Given the description of an element on the screen output the (x, y) to click on. 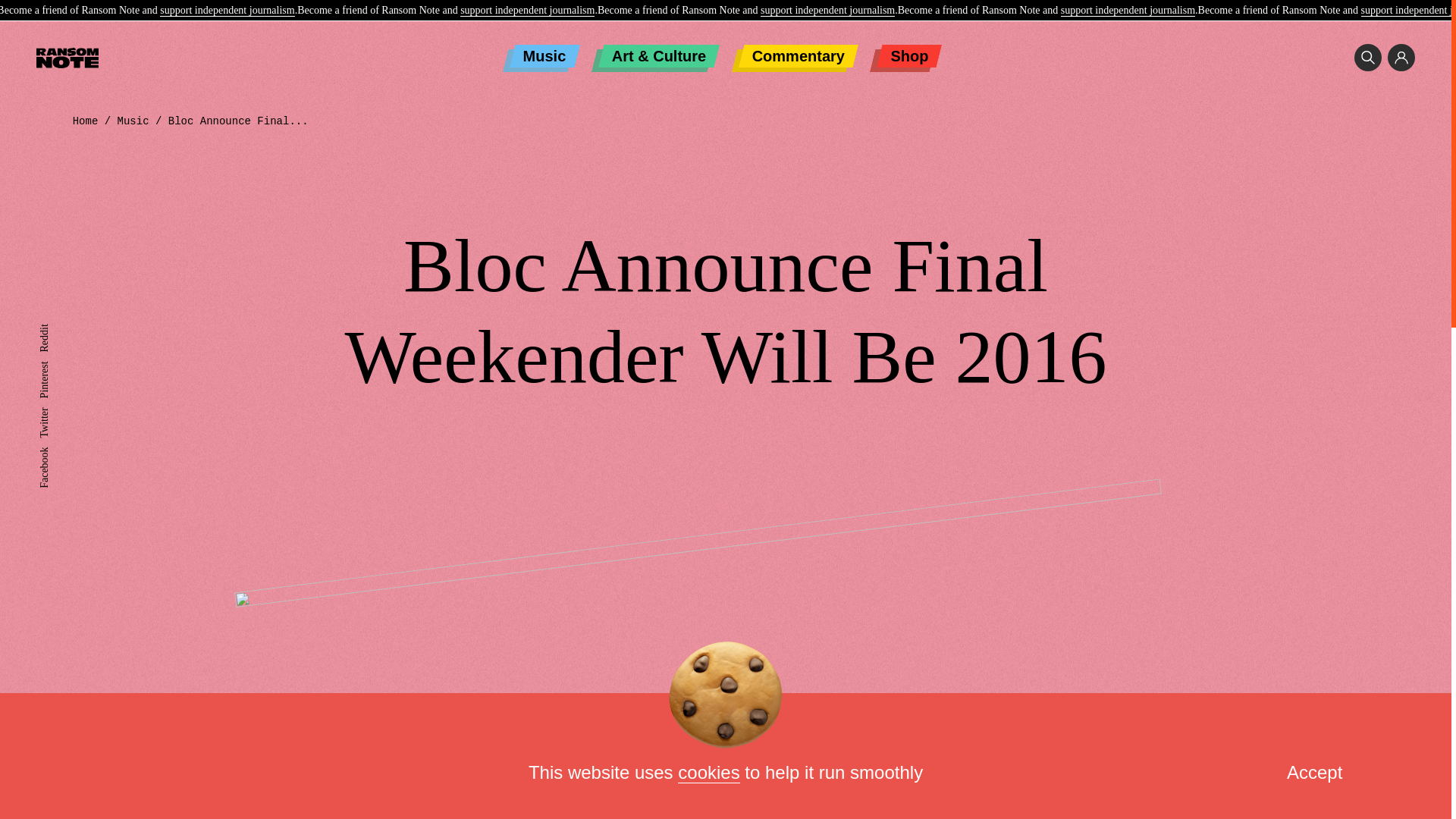
Music (544, 56)
Pinterest (57, 367)
Reddit (52, 329)
Commentary (798, 56)
Home (85, 121)
Twitter (53, 413)
support independent journalism (1128, 10)
support independent journalism (227, 10)
Facebook (59, 452)
support independent journalism (827, 10)
Shop (909, 56)
support independent journalism (527, 10)
Music (133, 121)
